Given the description of an element on the screen output the (x, y) to click on. 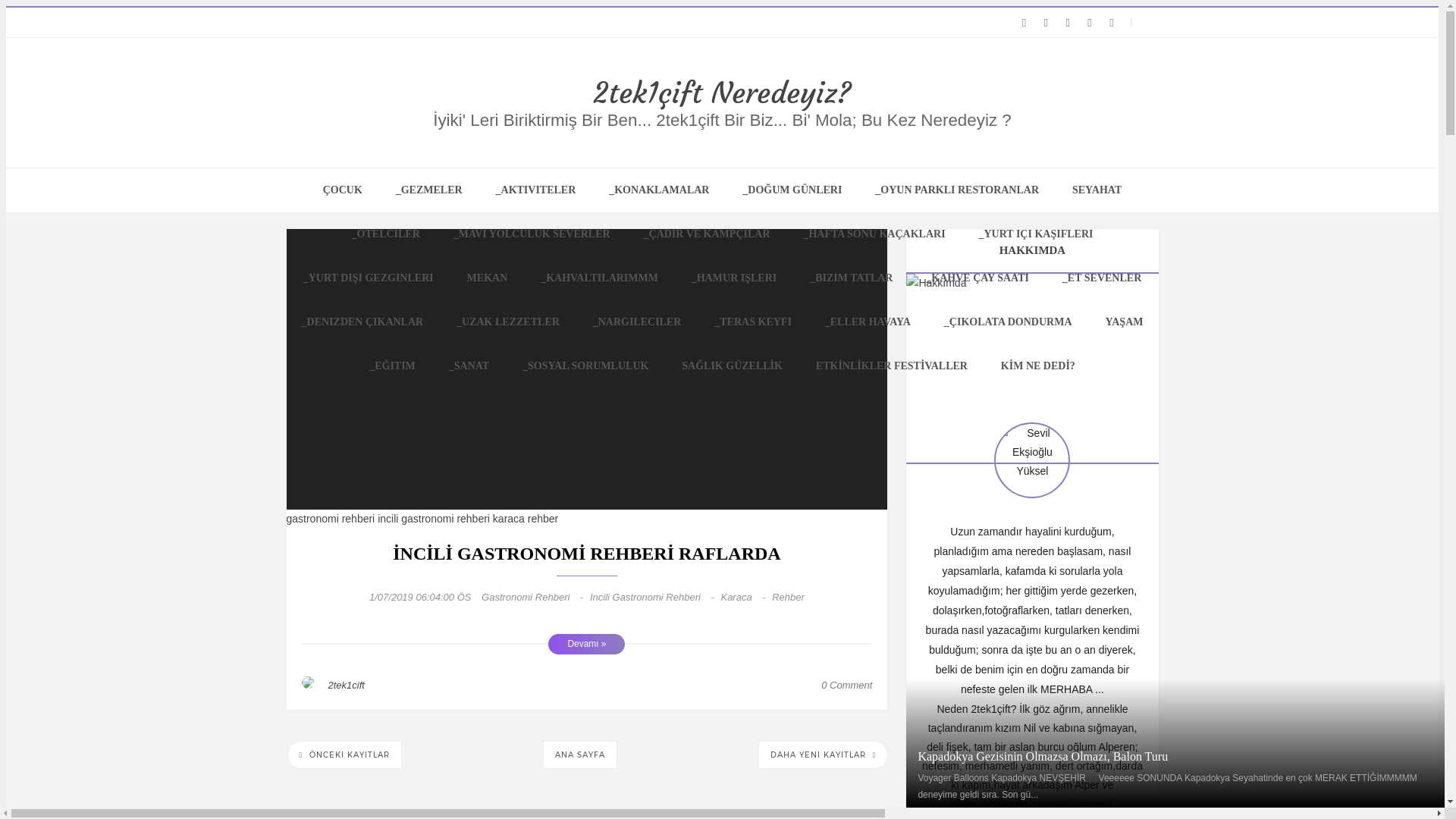
_KAHVALTILARIMMM Element type: text (599, 278)
MEKAN Element type: text (487, 278)
DAHA YENI KAYITLAR Element type: text (823, 754)
instagram Element type: hover (1045, 22)
_ET SEVENLER Element type: text (1101, 278)
2tek1cift Element type: text (345, 684)
gplus Element type: hover (1067, 22)
_OYUN PARKLI RESTORANLAR Element type: text (956, 190)
Gastronomi Rehberi - Element type: text (535, 596)
facebook Element type: hover (1111, 22)
rehber Element type: text (542, 518)
_AKTIVITELER Element type: text (535, 190)
SEYAHAT Element type: text (1096, 190)
karaca Element type: text (509, 518)
gastronomi rehberi Element type: text (332, 518)
facebook sayfa  Element type: hover (1089, 22)
_UZAK LEZZETLER Element type: text (507, 322)
_SOSYAL SORUMLULUK Element type: text (585, 366)
_BIZIM TATLAR Element type: text (850, 278)
_KONAKLAMALAR Element type: text (658, 190)
_TERAS KEYFI Element type: text (752, 322)
0 Comment Element type: text (846, 684)
ANA SAYFA Element type: text (579, 754)
_NARGILECILER Element type: text (636, 322)
_SANAT Element type: text (468, 366)
_OTELCILER Element type: text (385, 234)
Karaca - Element type: text (745, 596)
_MAVI YOLCULUK SEVERLER Element type: text (531, 234)
incili gastronomi rehberi Element type: text (434, 518)
_ELLER HAVAYA Element type: text (867, 322)
Rehber Element type: text (787, 596)
Incili Gastronomi Rehberi - Element type: text (655, 596)
_GEZMELER Element type: text (428, 190)
twitter Element type: hover (1023, 22)
